Given the description of an element on the screen output the (x, y) to click on. 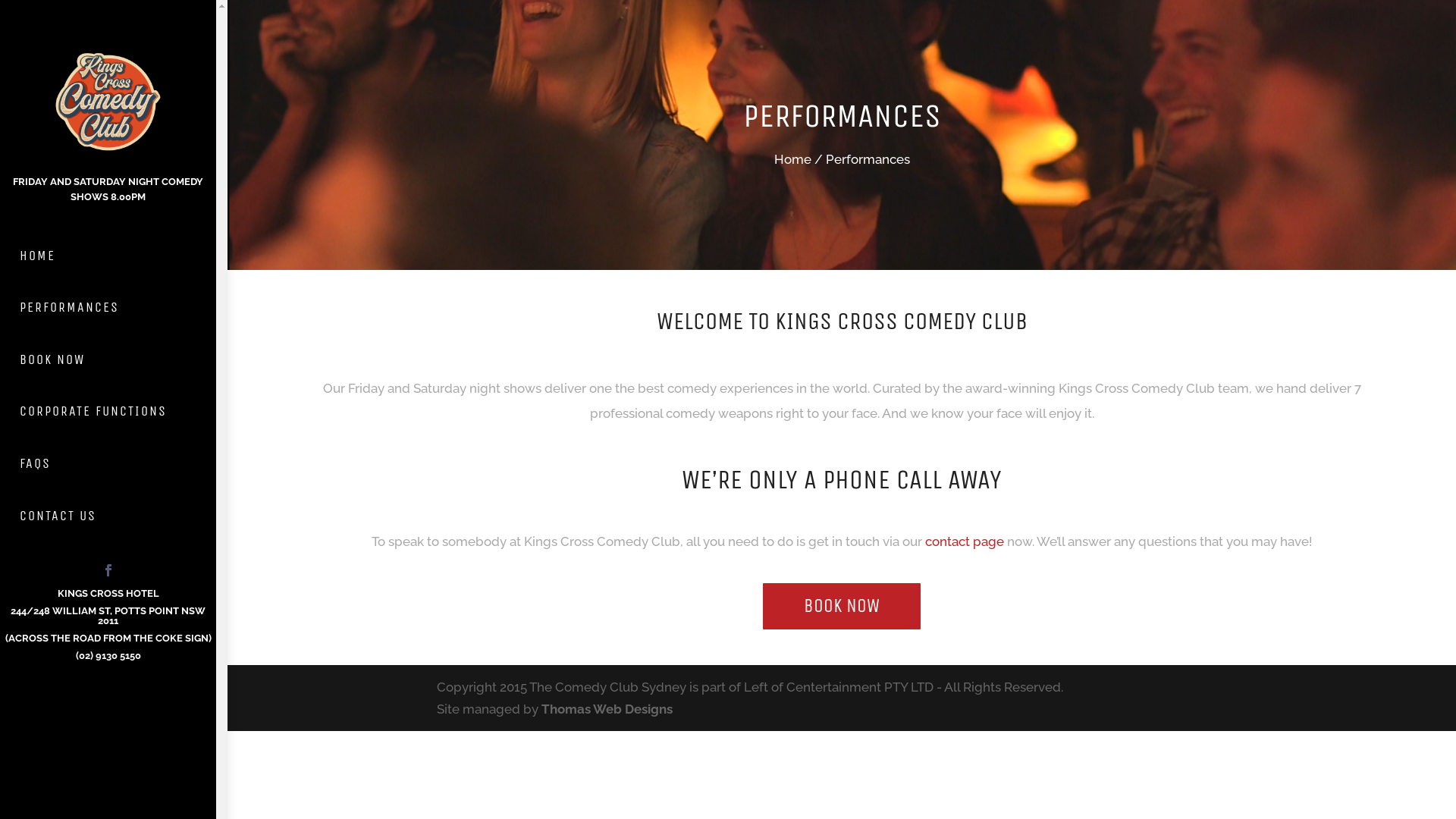
Logo Element type: hover (108, 98)
contact page Element type: text (966, 541)
PERFORMANCES Element type: text (107, 307)
CONTACT US Element type: text (107, 515)
FAQS Element type: text (107, 463)
CORPORATE FUNCTIONS Element type: text (107, 411)
Follow on Facebook Element type: hover (107, 570)
HOME Element type: text (107, 255)
Home Element type: text (791, 158)
BOOK NOW Element type: text (841, 606)
BOOK NOW Element type: text (107, 359)
Thomas Web Designs Element type: text (606, 708)
